Given the description of an element on the screen output the (x, y) to click on. 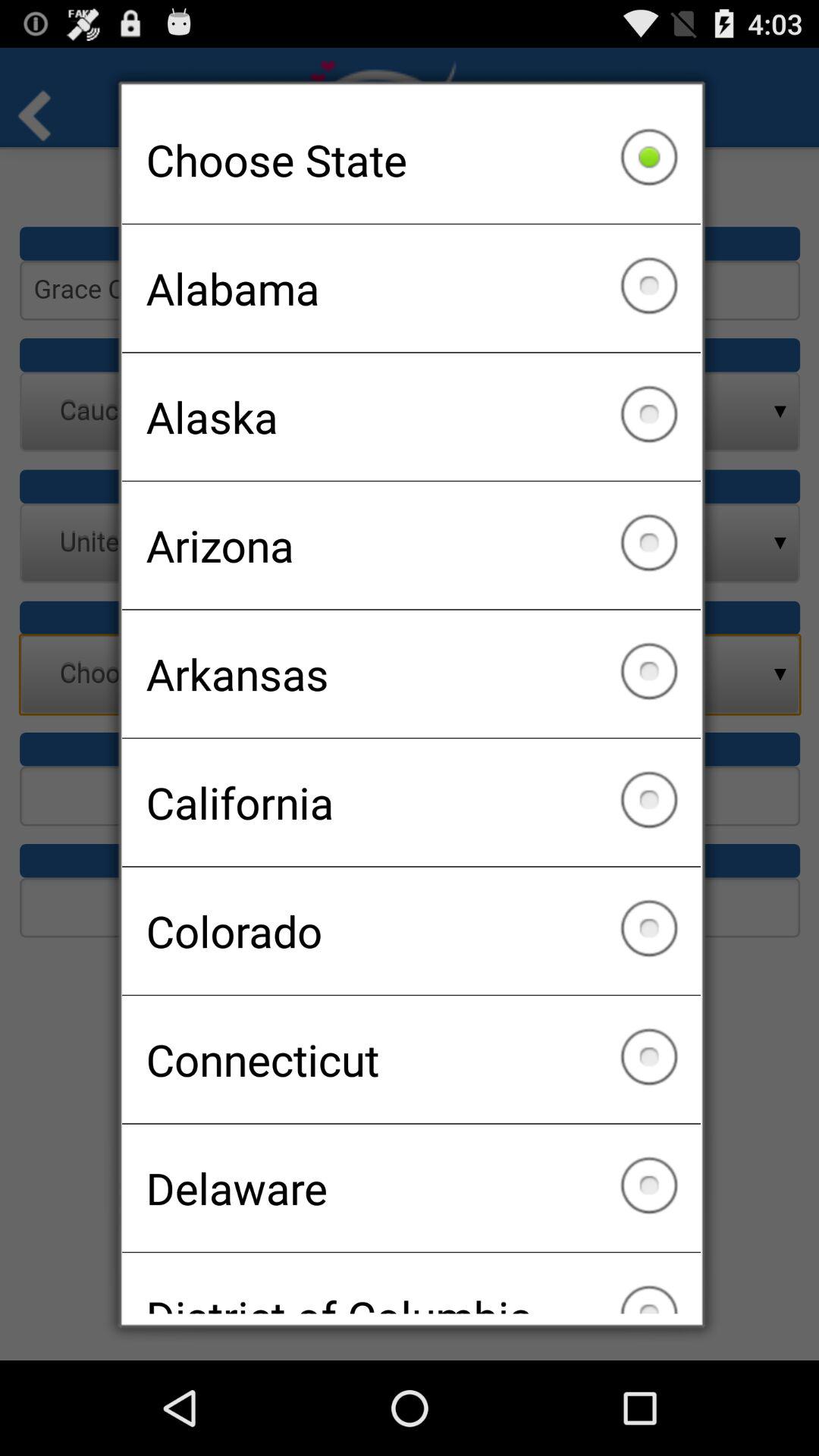
turn on checkbox above the colorado item (411, 802)
